Given the description of an element on the screen output the (x, y) to click on. 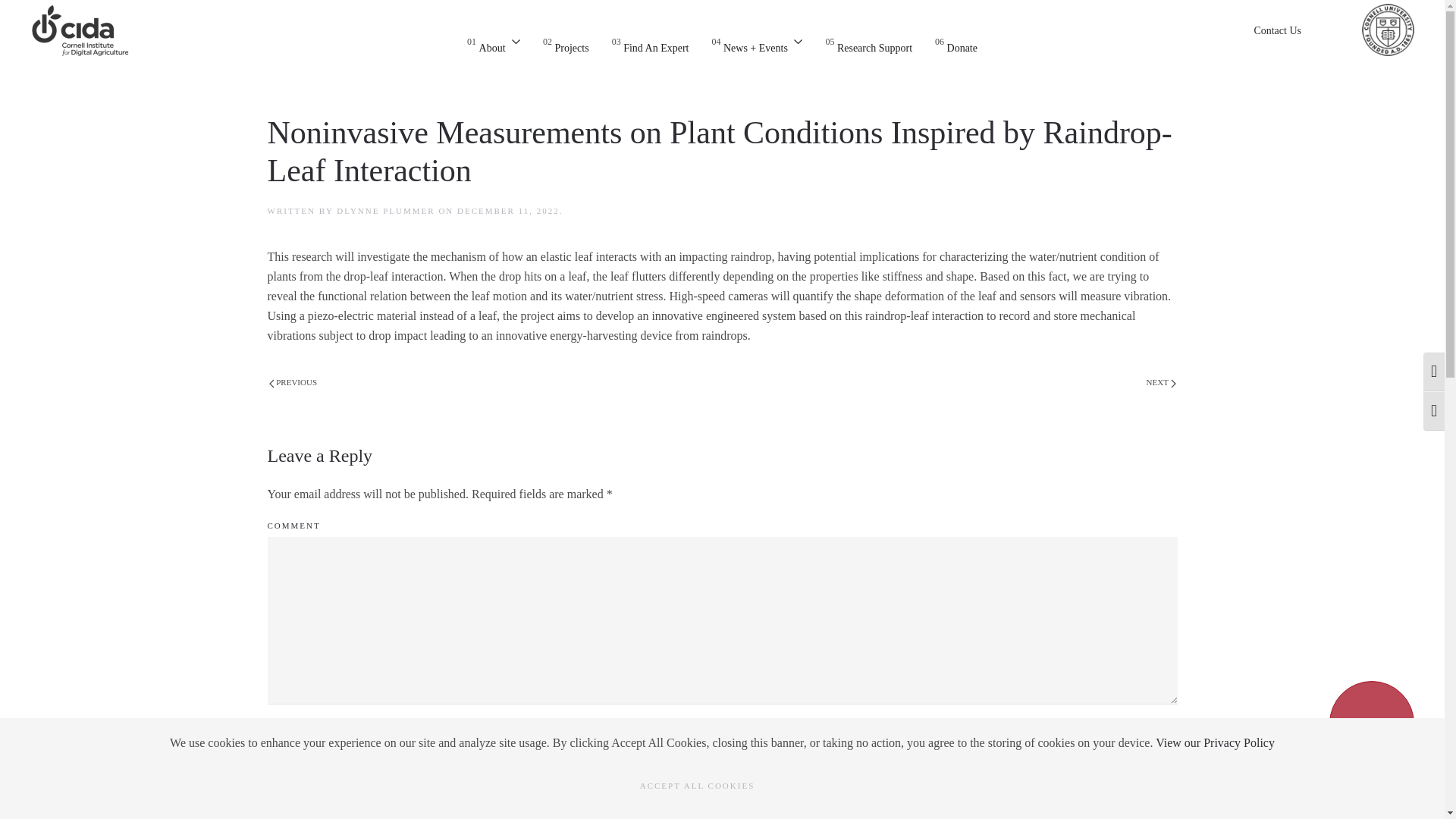
DONATE (649, 41)
PREVIOUS (566, 41)
DLYNNE PLUMMER (1371, 722)
Contact Us (493, 41)
NEXT (955, 41)
